Given the description of an element on the screen output the (x, y) to click on. 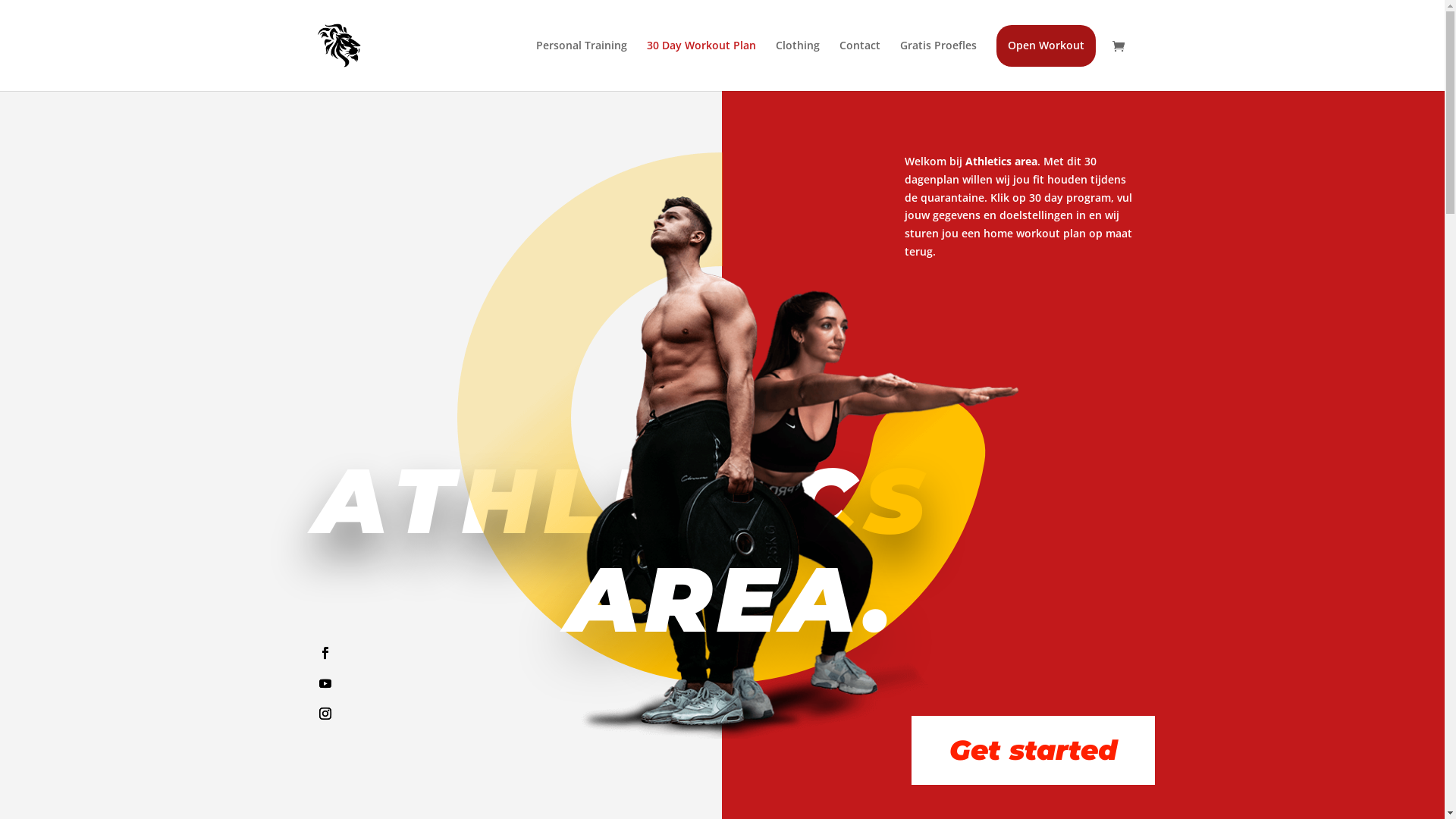
Get started Element type: text (1032, 749)
Gratis Proefles Element type: text (937, 57)
Clothing Element type: text (797, 57)
Follow on Instagram Element type: hover (324, 713)
Follow on Facebook Element type: hover (324, 652)
circle-yellow Element type: hover (721, 417)
30 Day Workout Plan Element type: text (700, 57)
Follow on Youtube Element type: hover (324, 683)
headerimg-png Element type: hover (728, 464)
Contact Element type: text (858, 57)
Open Workout Element type: text (1045, 57)
Personal Training Element type: text (580, 57)
